Given the description of an element on the screen output the (x, y) to click on. 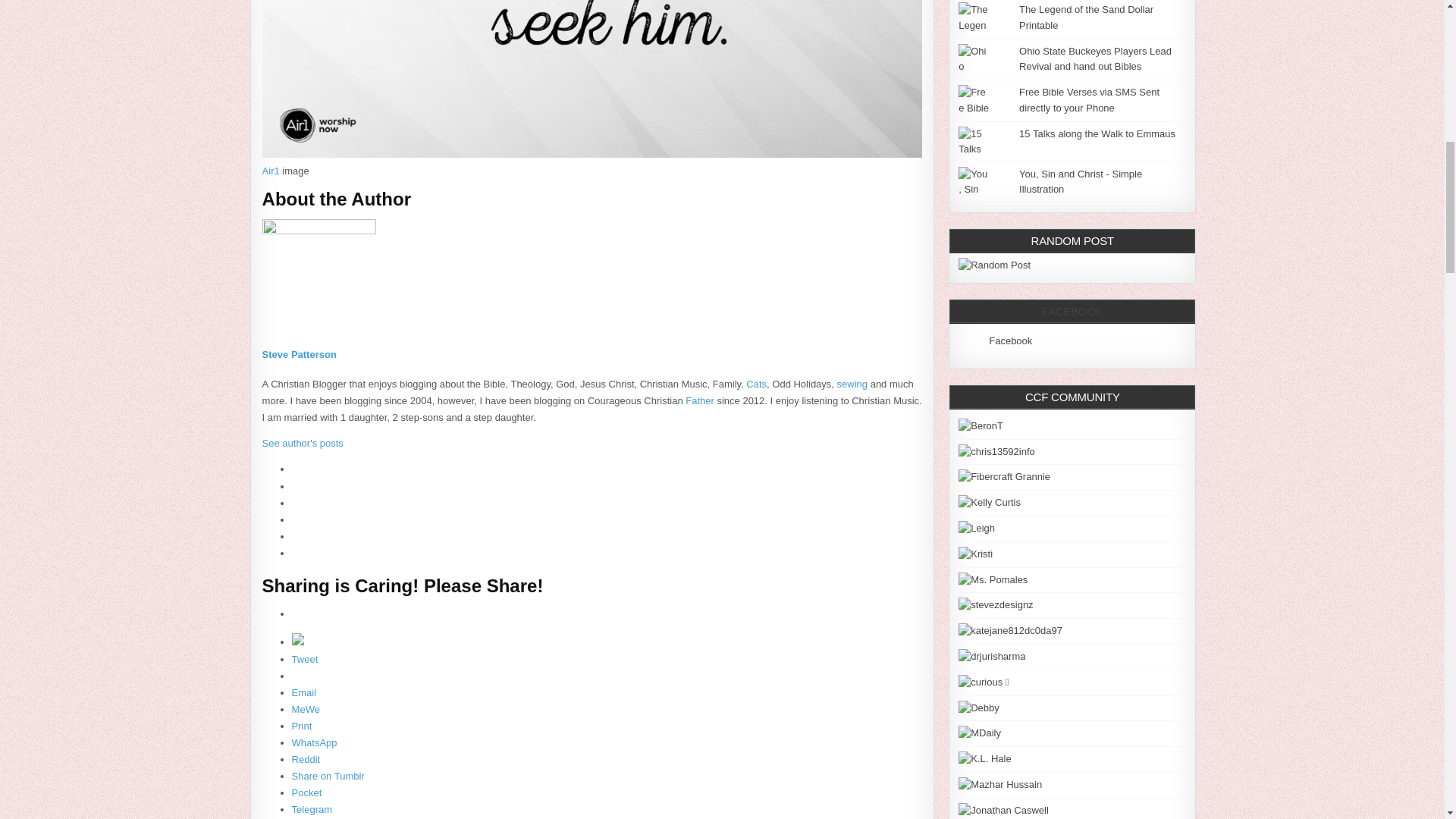
Air1 (270, 170)
See author's posts (302, 442)
Father (699, 400)
Cats (756, 383)
Steve Patterson (299, 354)
sewing (852, 383)
Air1 (270, 170)
Cats (756, 383)
Sewing (852, 383)
